Given the description of an element on the screen output the (x, y) to click on. 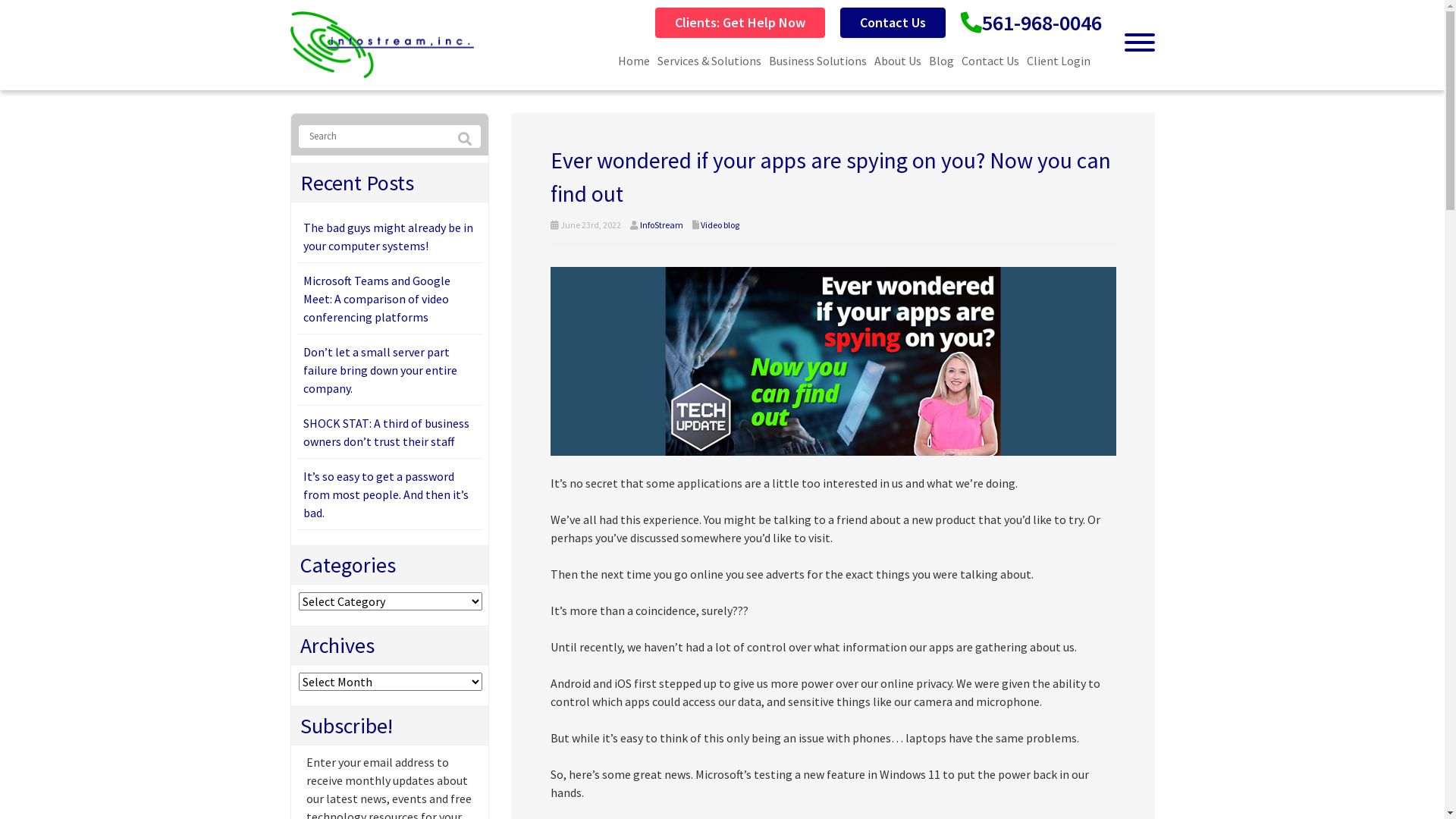
The bad guys might already be in your computer systems! Element type: text (388, 236)
Search Element type: text (464, 139)
561-968-0046 Element type: text (1041, 22)
Contact Us Element type: text (989, 60)
Contact Us Element type: text (892, 22)
Home Element type: text (633, 60)
Blog Element type: text (941, 60)
Clients: Get Help Now Element type: text (740, 22)
Business Solutions Element type: text (816, 60)
Video blog Element type: text (719, 224)
Client Login Element type: text (1057, 60)
About Us Element type: text (897, 60)
InfoStream Element type: text (661, 224)
Services & Solutions Element type: text (709, 60)
